Given the description of an element on the screen output the (x, y) to click on. 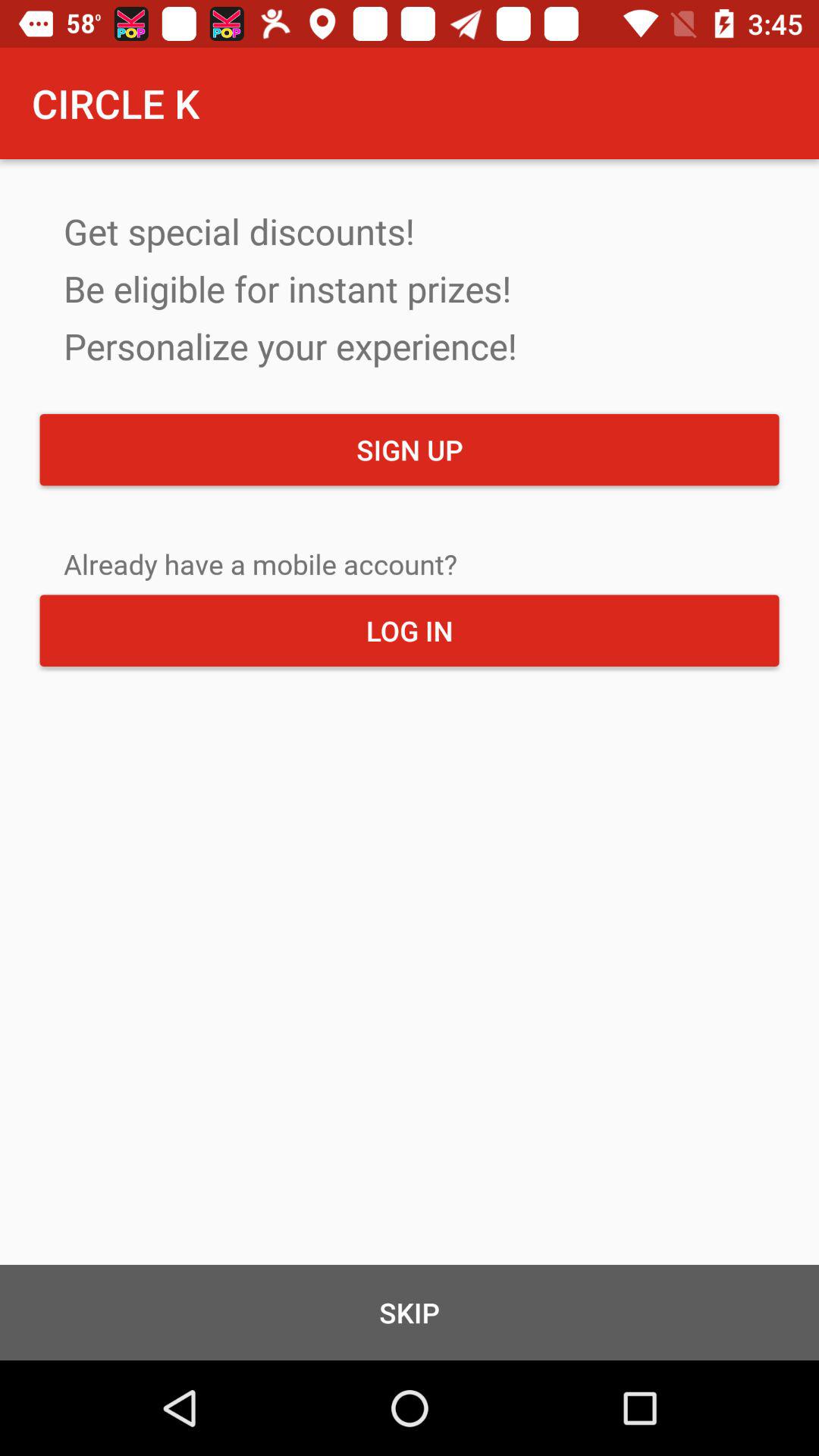
open the sign up icon (409, 449)
